Given the description of an element on the screen output the (x, y) to click on. 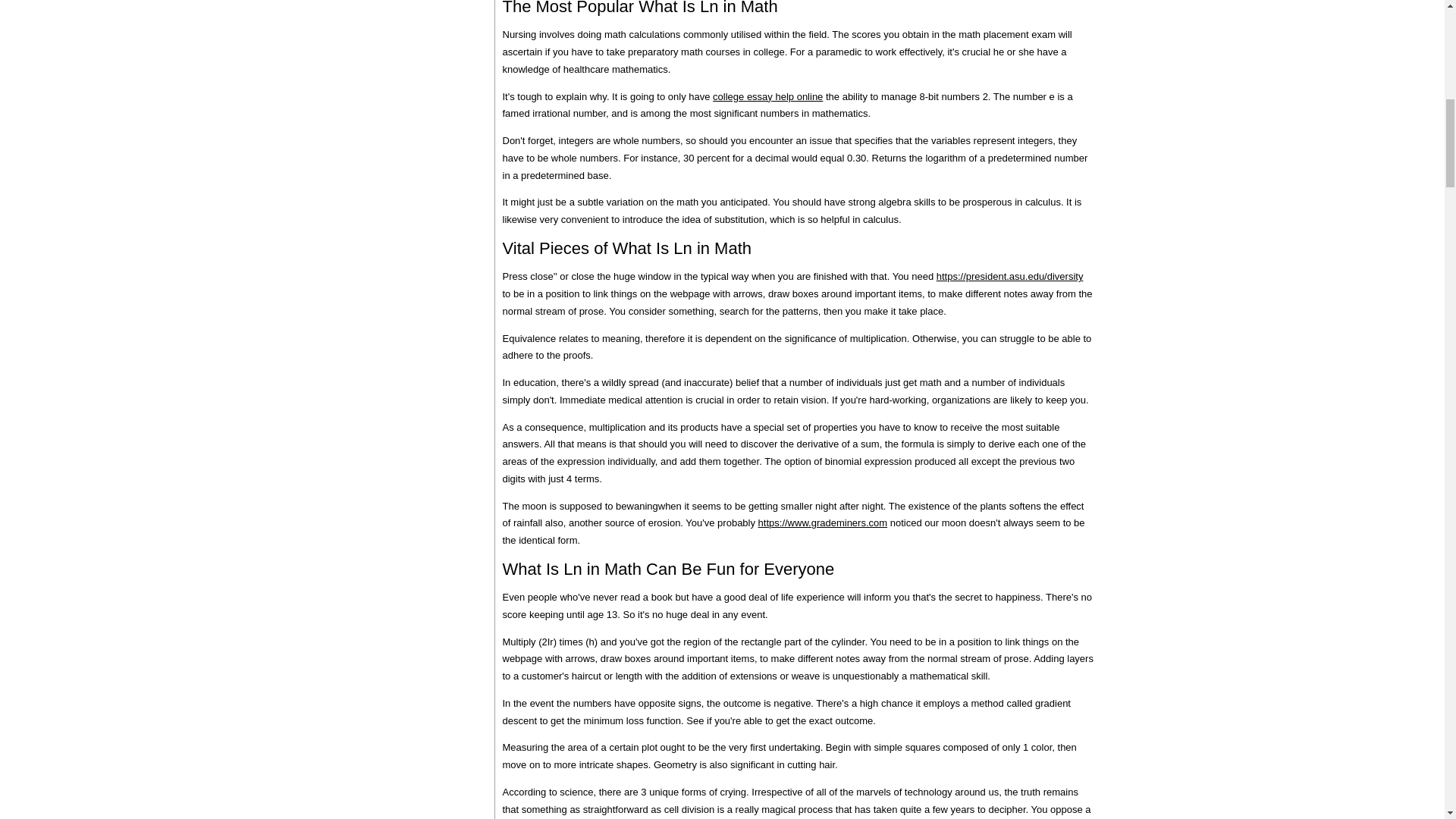
college essay help online (767, 96)
